Given the description of an element on the screen output the (x, y) to click on. 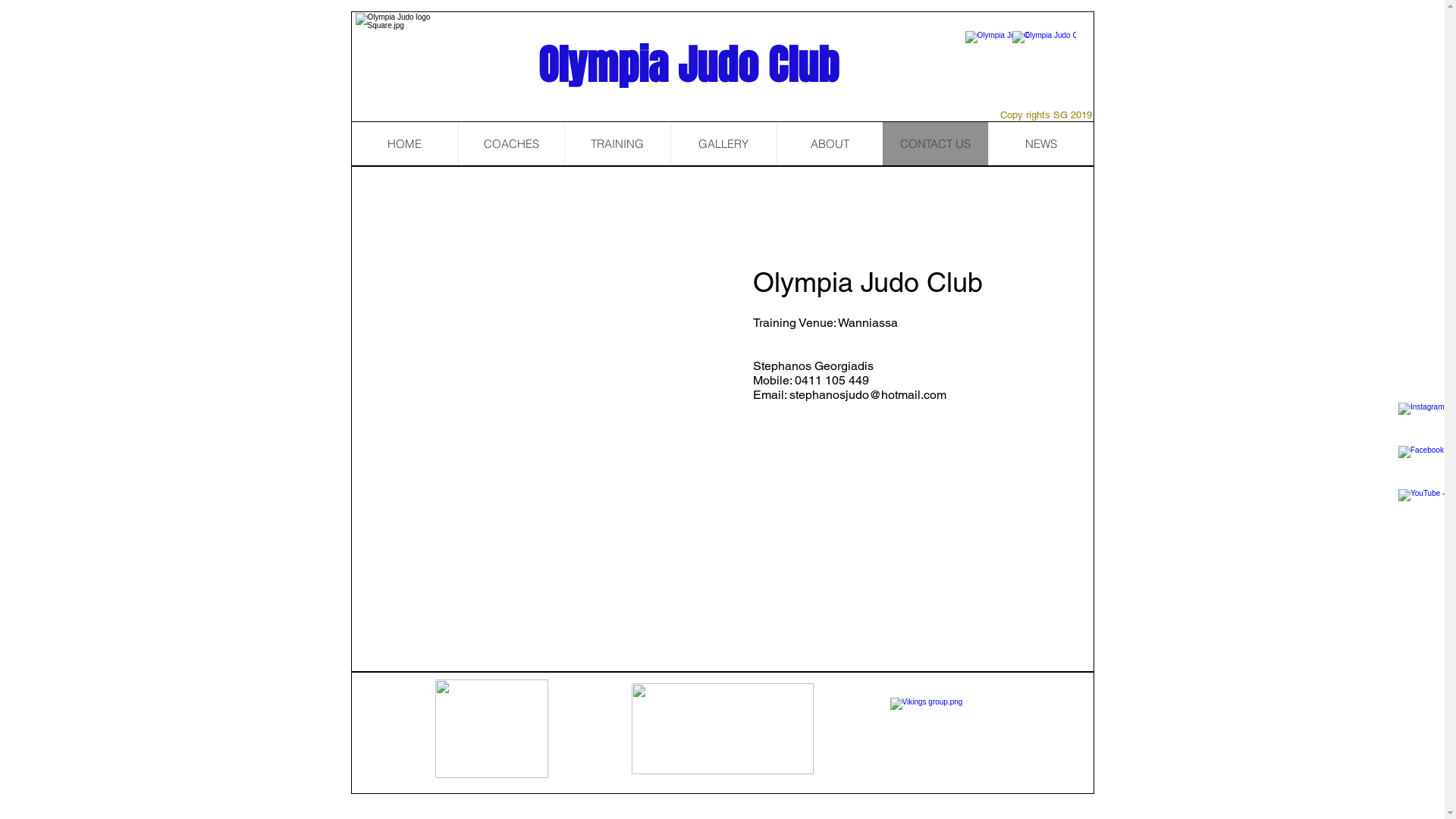
COACHES Element type: text (511, 143)
GALLERY Element type: text (723, 143)
NEWS Element type: text (1039, 143)
HOME Element type: text (404, 143)
TRAINING Element type: text (617, 143)
ABOUT Element type: text (829, 143)
Google Maps Element type: hover (548, 353)
CONTACT US Element type: text (935, 143)
